Given the description of an element on the screen output the (x, y) to click on. 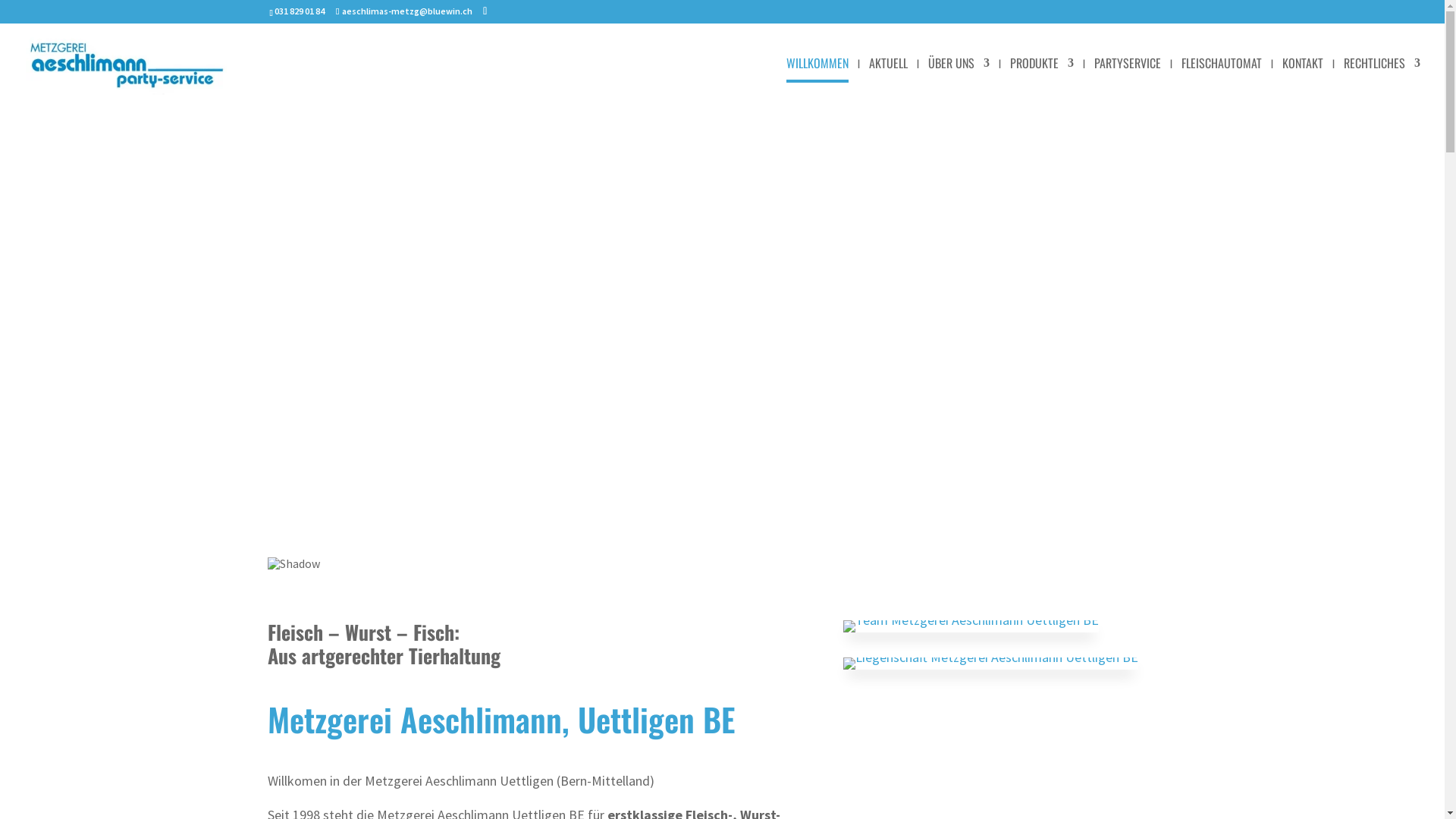
aeschlimas-metzg@bluewin.ch Element type: text (403, 10)
PARTYSERVICE Element type: text (1127, 79)
RECHTLICHES Element type: text (1381, 79)
Team Metzgerei Aeschlimann Uettligen BE Element type: hover (970, 619)
AKTUELL Element type: text (888, 79)
Team Metzgerei Aeschlimann Uettligen BE 2 Element type: hover (970, 626)
WILLKOMMEN Element type: text (817, 69)
FLEISCHAUTOMAT Element type: text (1221, 79)
PRODUKTE Element type: text (1041, 79)
Liegenschaft Metzgerei Aeschlimann Uettligen BE Element type: hover (990, 656)
KONTAKT Element type: text (1302, 79)
Liegenschaft Metzgerei Aeschlimann Uettligen BE Element type: hover (990, 663)
